Given the description of an element on the screen output the (x, y) to click on. 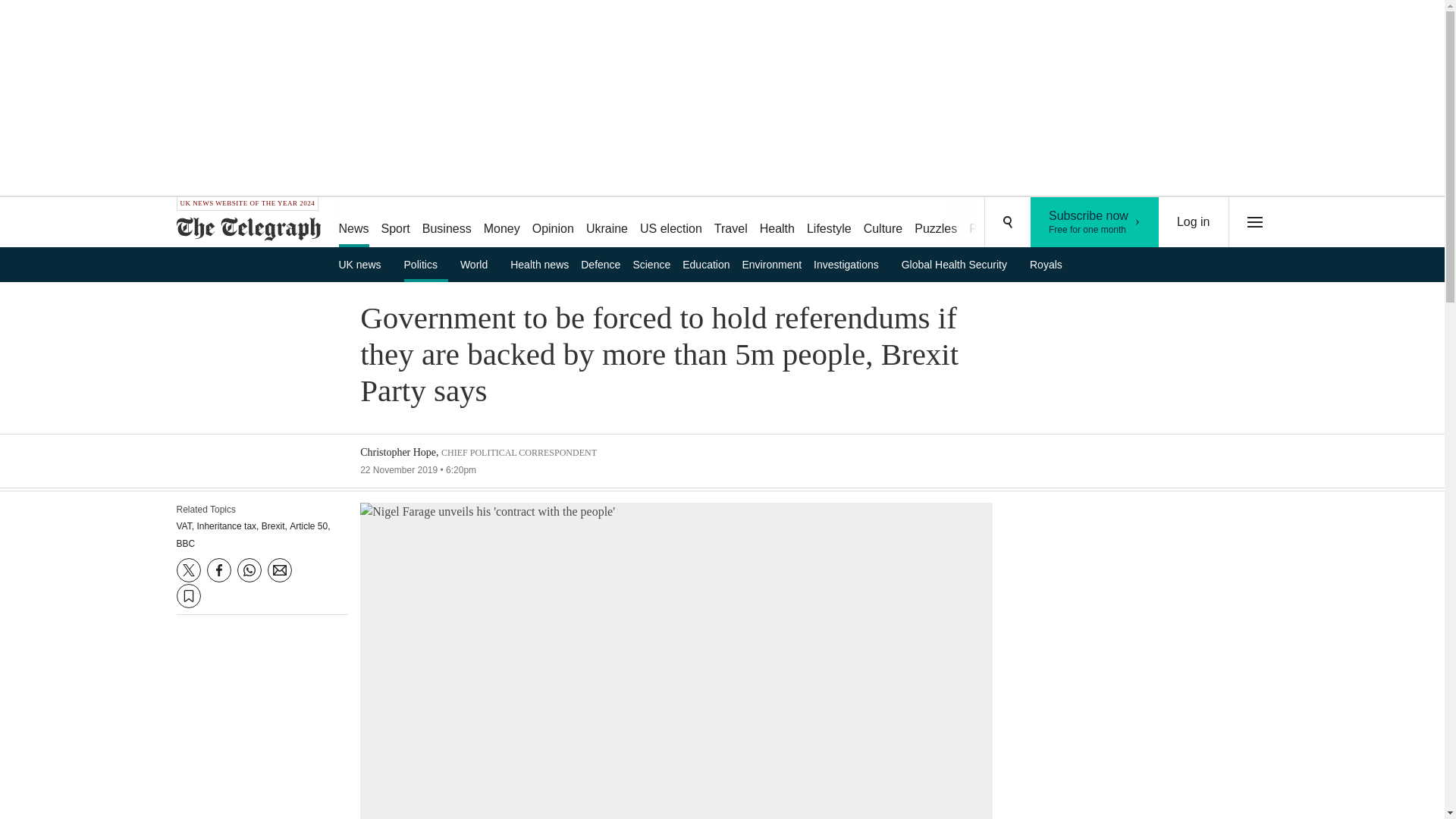
Money (501, 223)
Business (446, 223)
World (478, 264)
Politics (425, 264)
Lifestyle (828, 223)
Health (777, 223)
UK news (364, 264)
Travel (730, 223)
Culture (882, 223)
Ukraine (606, 223)
